Given the description of an element on the screen output the (x, y) to click on. 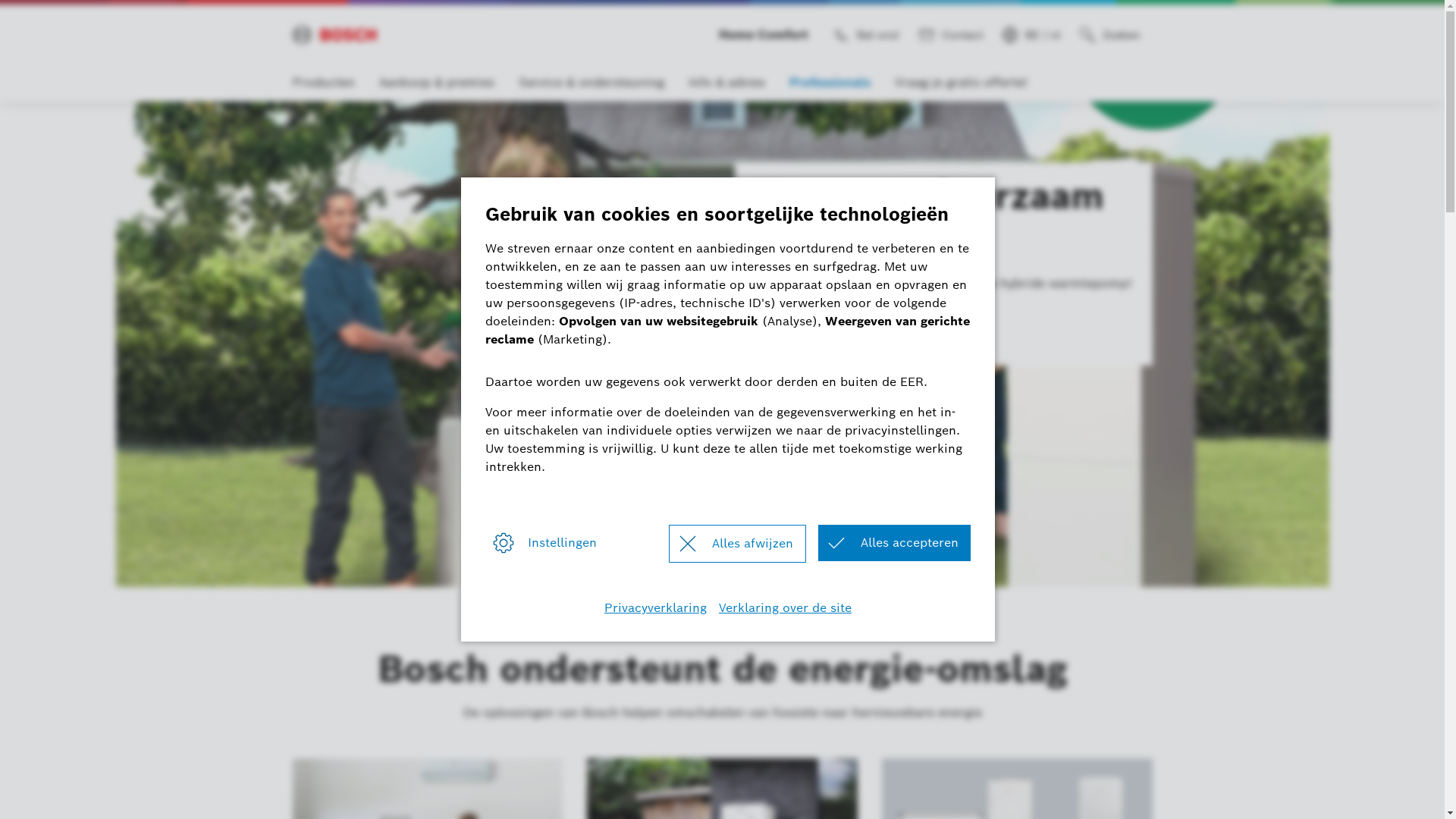
Verwarm #LikeABosch Element type: text (830, 322)
Bosch Home Comfort Element type: hover (334, 34)
Zoeken Element type: text (1112, 34)
Contact Element type: text (952, 34)
Vraag je gratis offerte! Element type: text (960, 83)
Aankoop & premies Element type: text (436, 83)
Like A Bosch promotie Element type: hover (721, 343)
Bel ons! Element type: text (868, 34)
Producten Element type: text (323, 83)
BE | nl Element type: text (1033, 34)
Service & ondersteuning Element type: text (591, 83)
Info & advies Element type: text (726, 83)
Professionals Element type: text (828, 83)
